Given the description of an element on the screen output the (x, y) to click on. 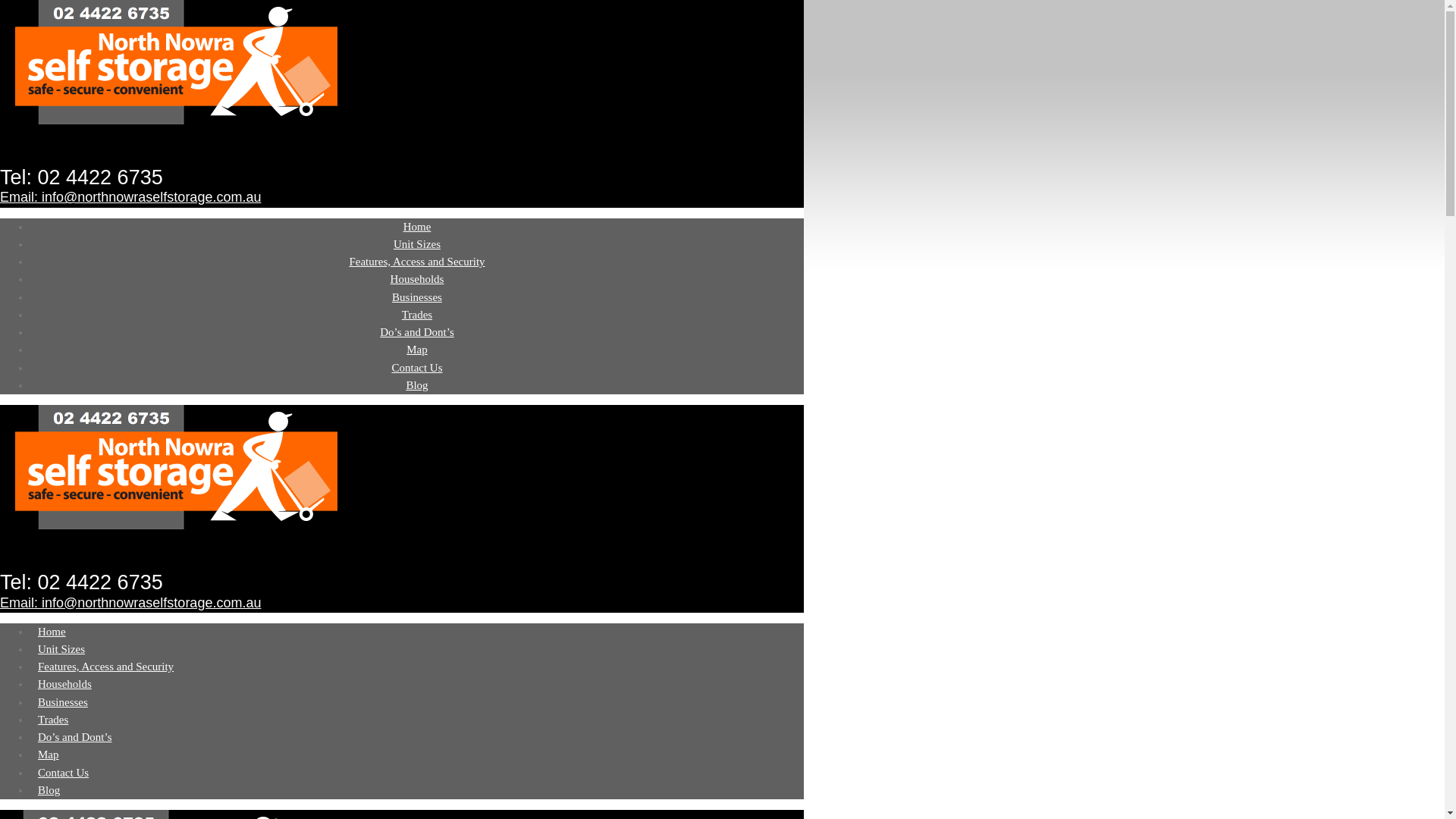
Unit Sizes Element type: text (416, 243)
Map Element type: text (48, 754)
Contact Us Element type: text (63, 772)
Home Element type: text (51, 631)
Trades Element type: text (416, 314)
Features, Access and Security Element type: text (416, 261)
Blog Element type: text (416, 384)
Map Element type: text (416, 349)
Unit Sizes Element type: text (61, 648)
Email: info@northnowraselfstorage.com.au Element type: text (130, 196)
Households Element type: text (64, 683)
Businesses Element type: text (416, 296)
Trades Element type: text (52, 719)
Households Element type: text (416, 278)
Businesses Element type: text (62, 701)
Tel: 02 4422 6735 Element type: text (81, 177)
Contact Us Element type: text (416, 367)
Features, Access and Security Element type: text (105, 666)
Email: info@northnowraselfstorage.com.au Element type: text (130, 602)
Tel: 02 4422 6735 Element type: text (81, 582)
Blog Element type: text (48, 789)
Home Element type: text (417, 226)
